Given the description of an element on the screen output the (x, y) to click on. 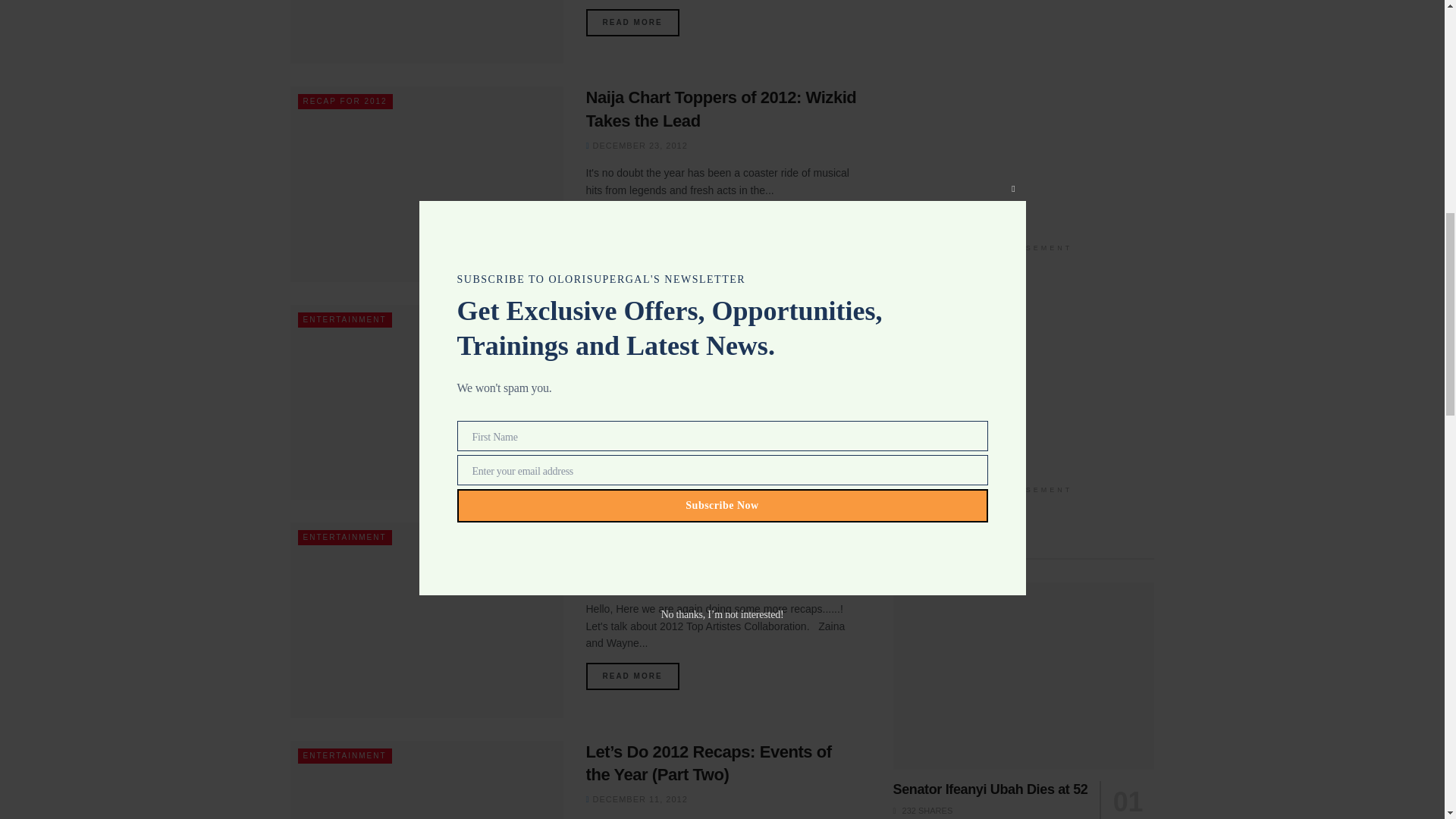
Advertisement (1023, 115)
